Given the description of an element on the screen output the (x, y) to click on. 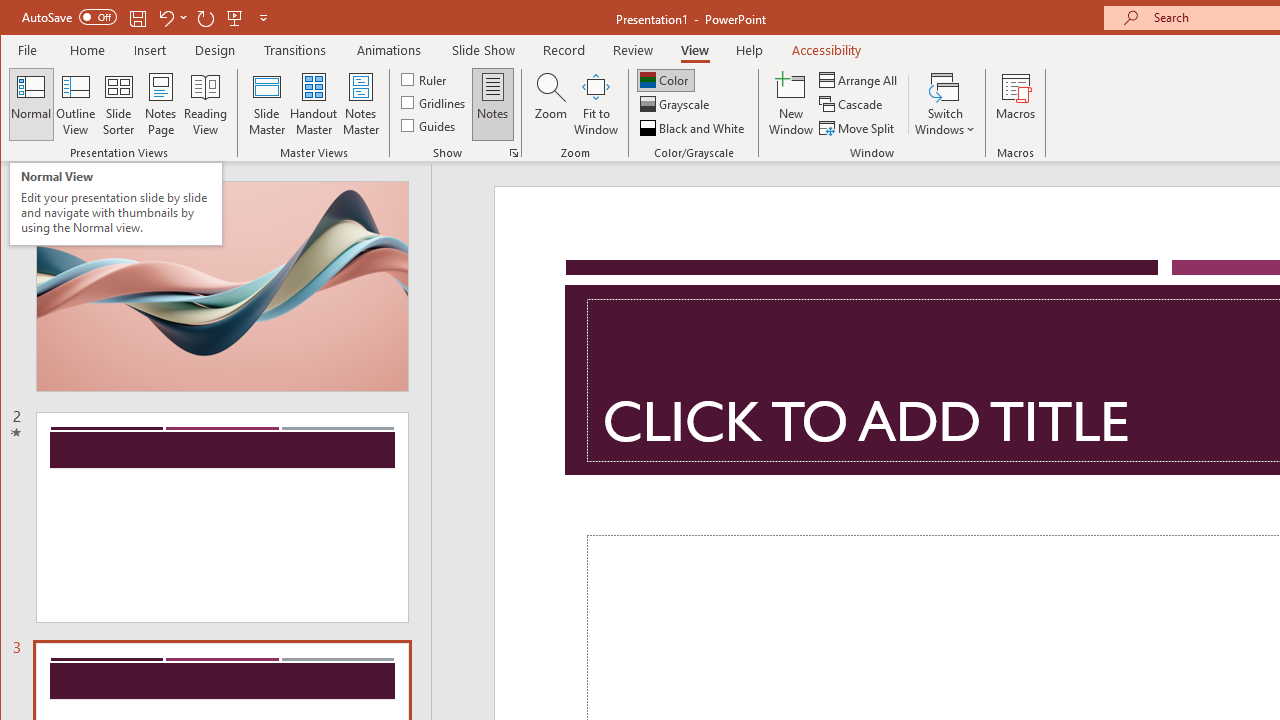
Notes (493, 104)
Notes Master (360, 104)
Gridlines (435, 101)
Move Split (858, 127)
Switch Windows (944, 104)
Black and White (694, 127)
Ruler (425, 78)
Grid Settings... (513, 152)
